Given the description of an element on the screen output the (x, y) to click on. 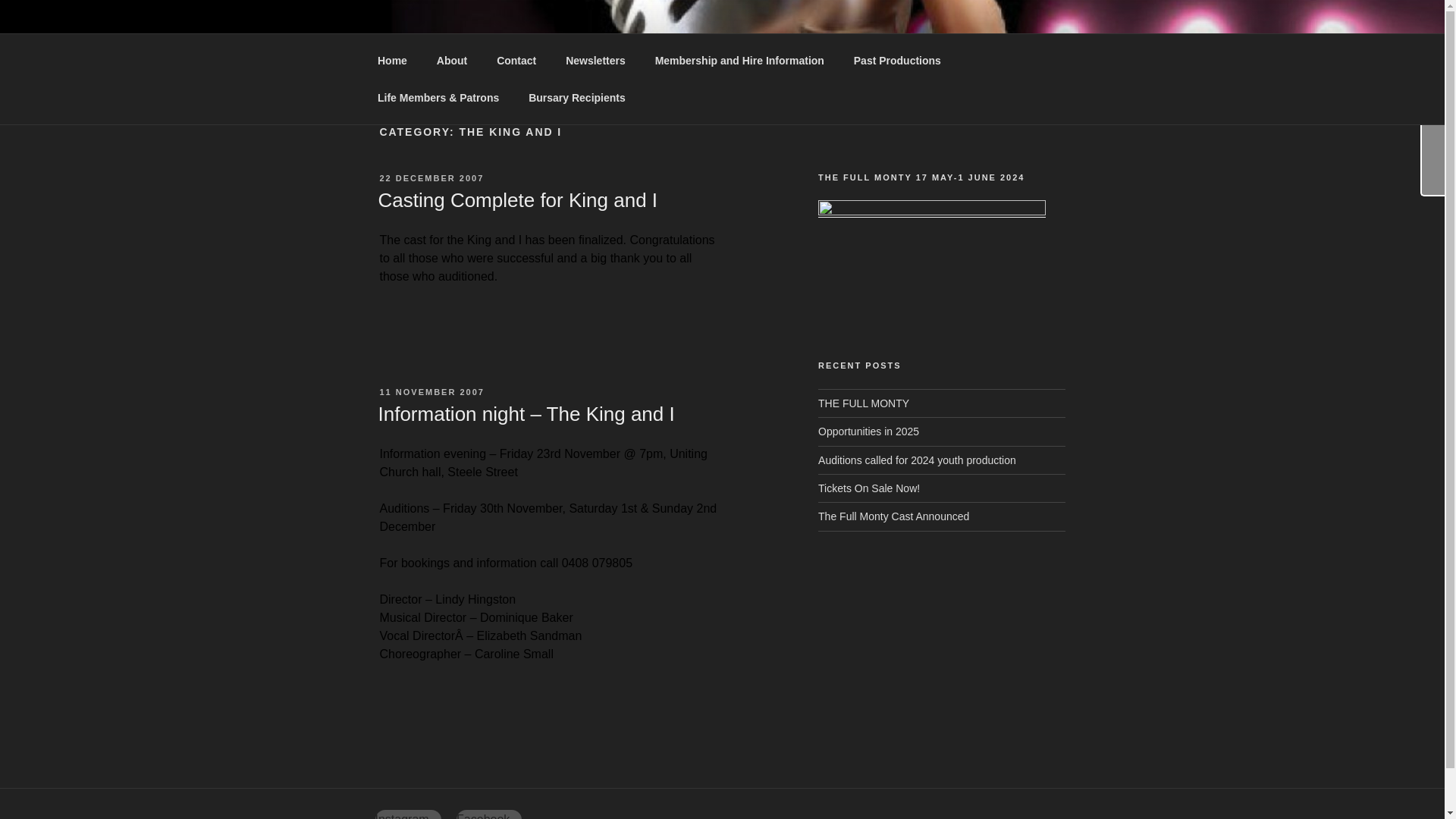
Facebook (489, 814)
The Full Monty Cast Announced (893, 516)
Auditions called for 2024 youth production (917, 460)
DEVONPORT CHORAL SOCIETY (617, 52)
Opportunities in 2025 (868, 431)
Newsletters (596, 60)
Membership and Hire Information (739, 60)
Instagram (407, 814)
Contact (516, 60)
Home (392, 60)
About (451, 60)
Past Productions (896, 60)
